Given the description of an element on the screen output the (x, y) to click on. 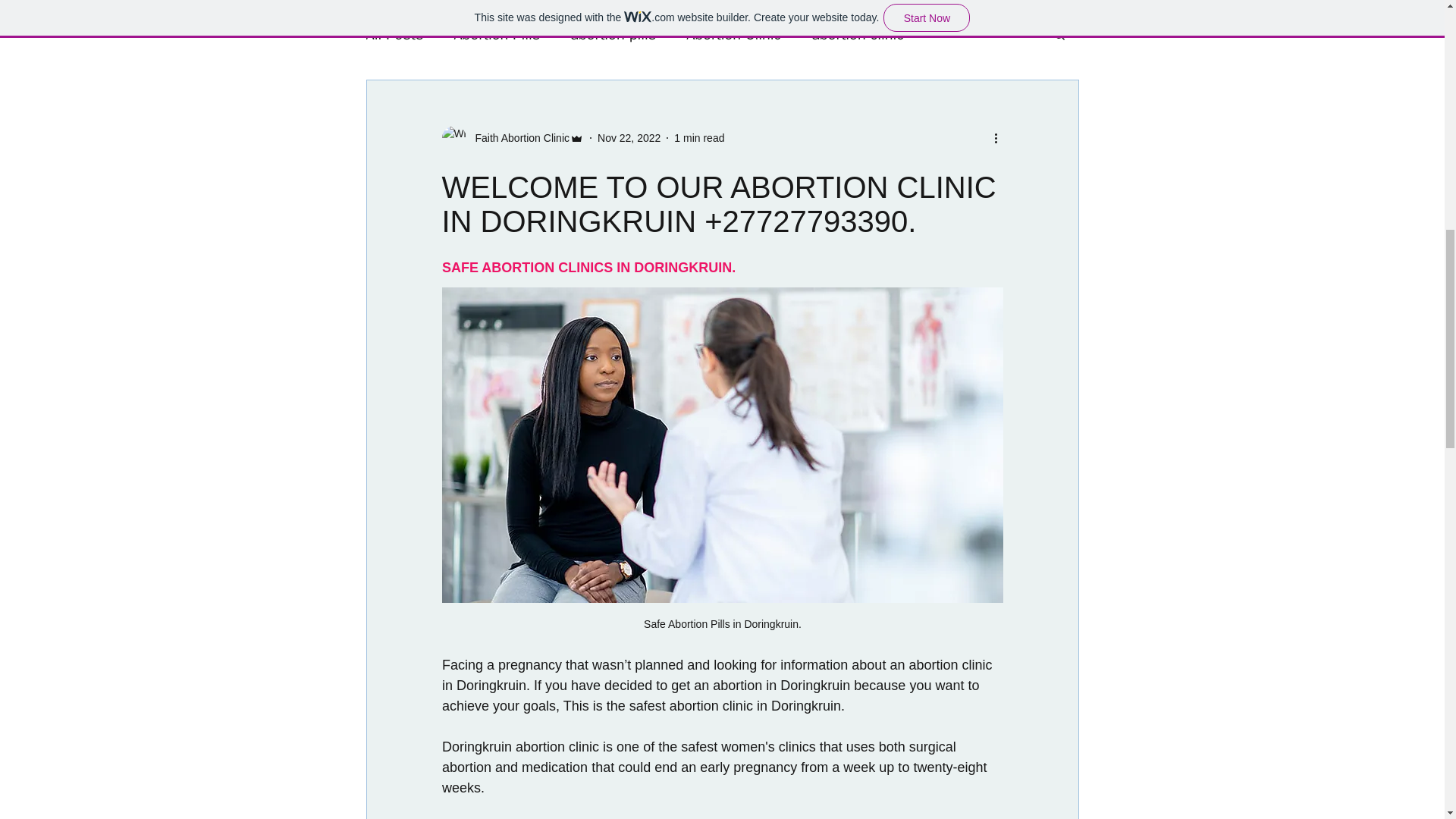
1 min read (698, 137)
Nov 22, 2022 (628, 137)
Faith Abortion Clinic (517, 138)
